Given the description of an element on the screen output the (x, y) to click on. 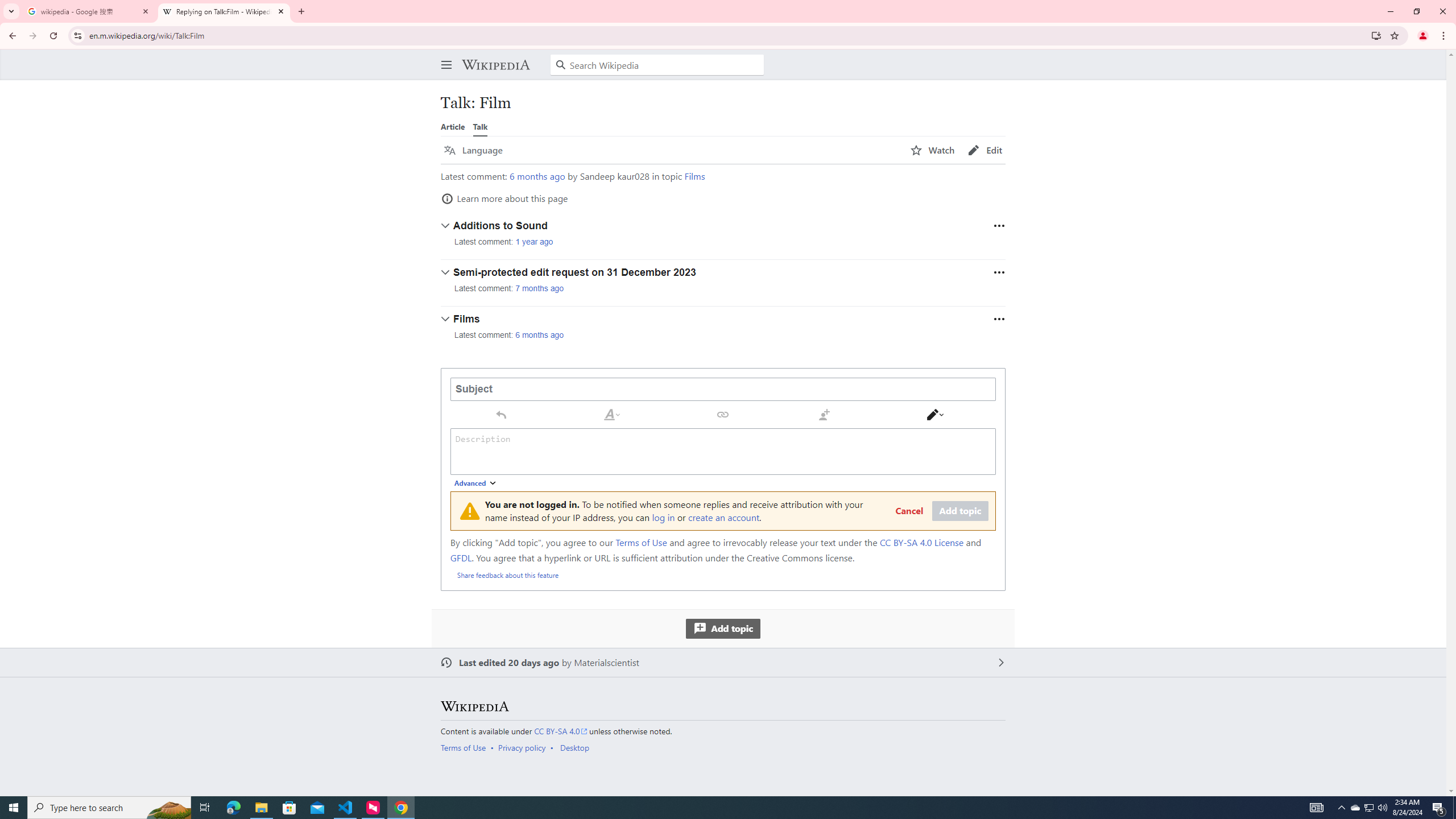
Edit (984, 149)
AutomationID: page-actions-edit (984, 150)
